Given the description of an element on the screen output the (x, y) to click on. 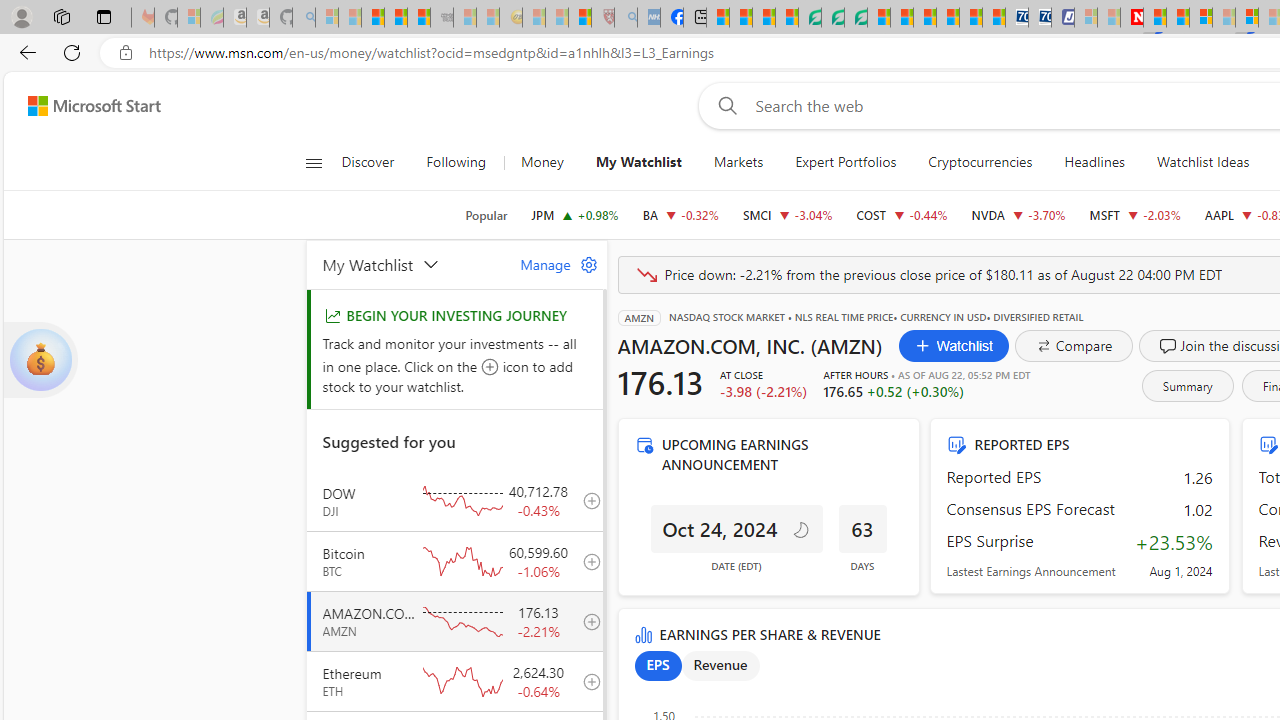
JPM JPMORGAN CHASE & CO. increase 216.71 +2.11 +0.98% (574, 214)
New Report Confirms 2023 Was Record Hot | Watch (419, 17)
show card (40, 359)
Skip to content (86, 105)
World - MSN (763, 17)
